Given the description of an element on the screen output the (x, y) to click on. 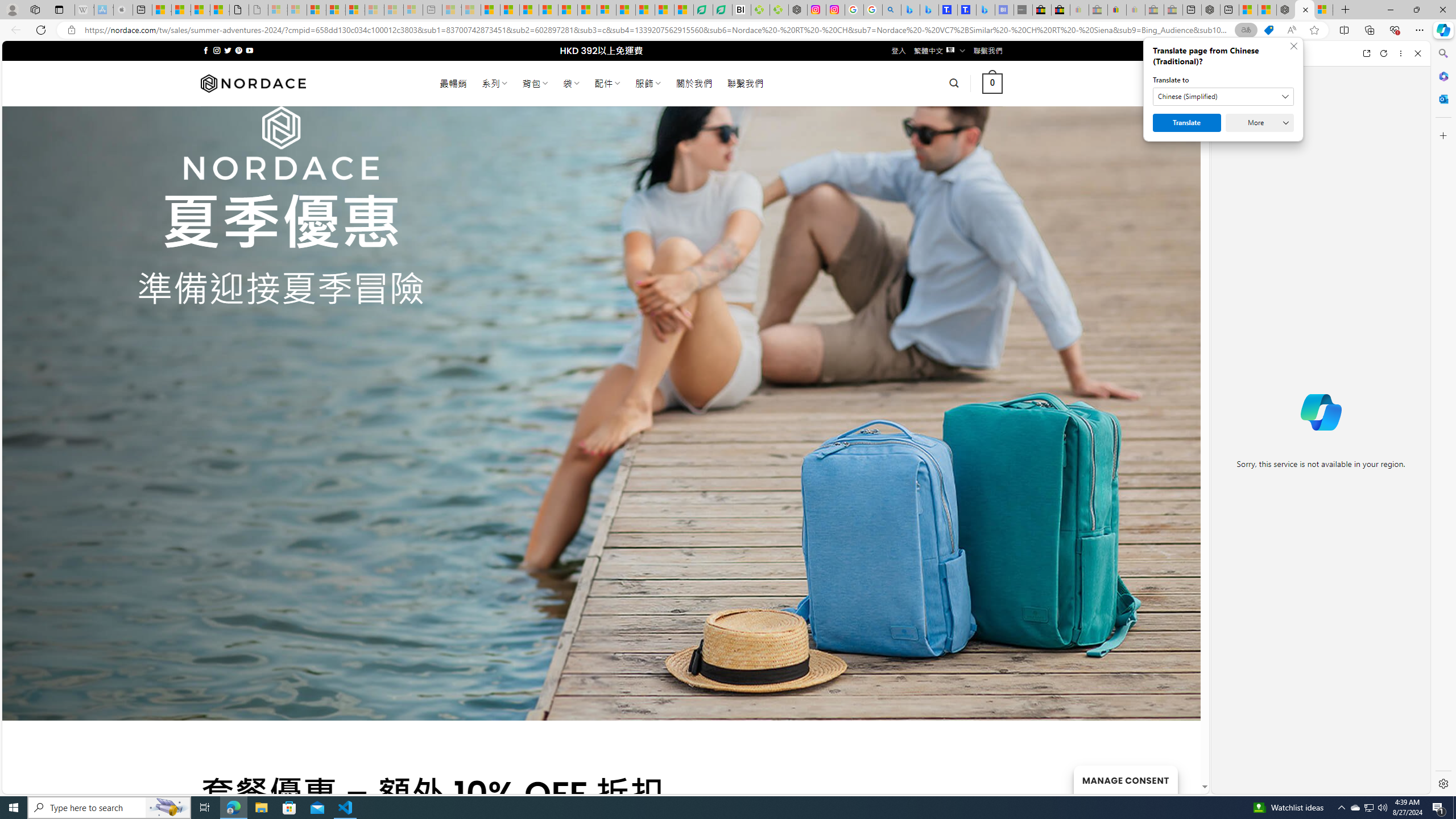
Follow on Facebook (205, 50)
LendingTree - Compare Lenders (721, 9)
More (1259, 122)
Descarga Driver Updater (778, 9)
Microsoft Services Agreement - Sleeping (296, 9)
  0   (992, 83)
Compose (1280, 52)
